Given the description of an element on the screen output the (x, y) to click on. 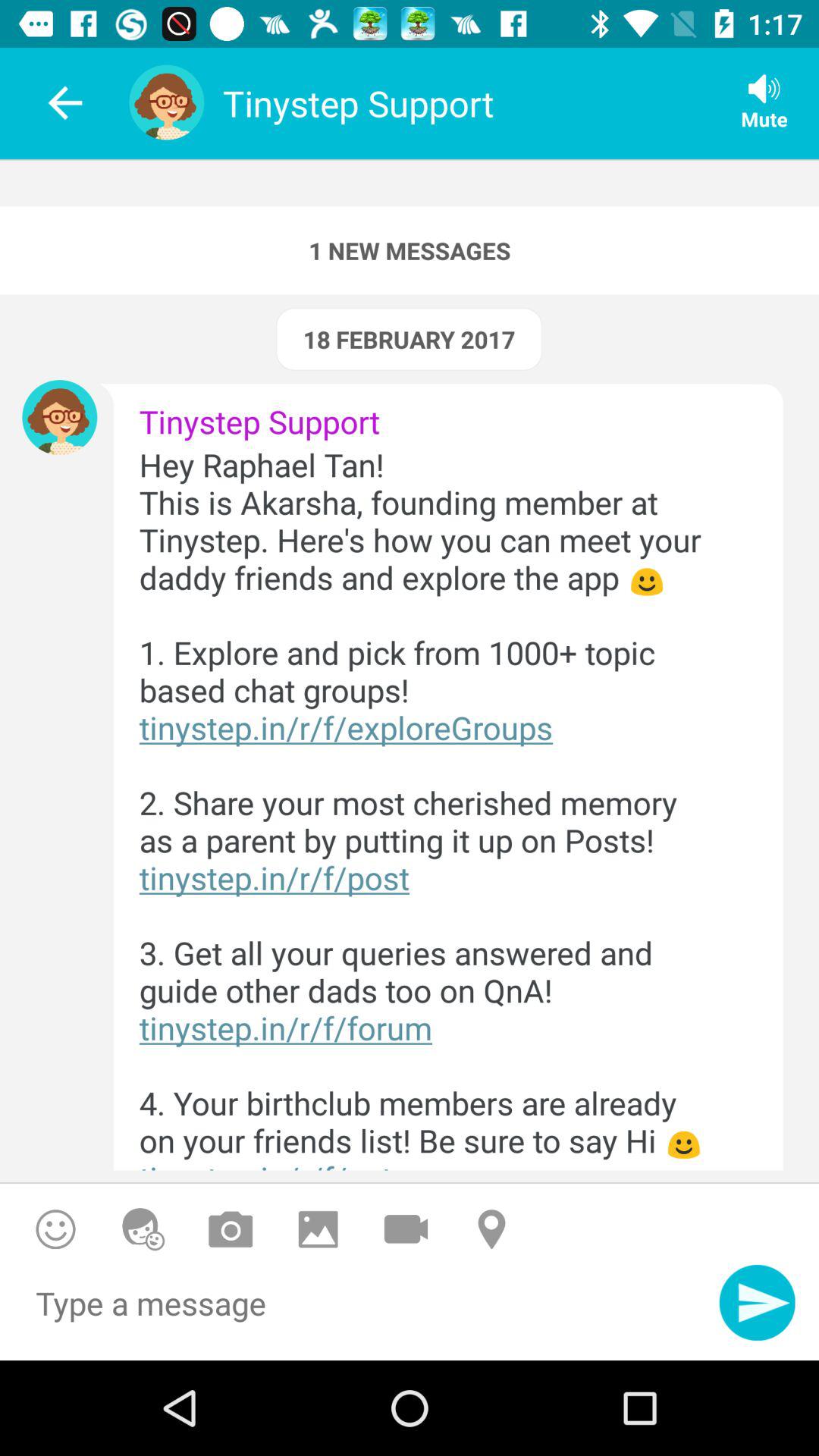
take photo (230, 1229)
